Given the description of an element on the screen output the (x, y) to click on. 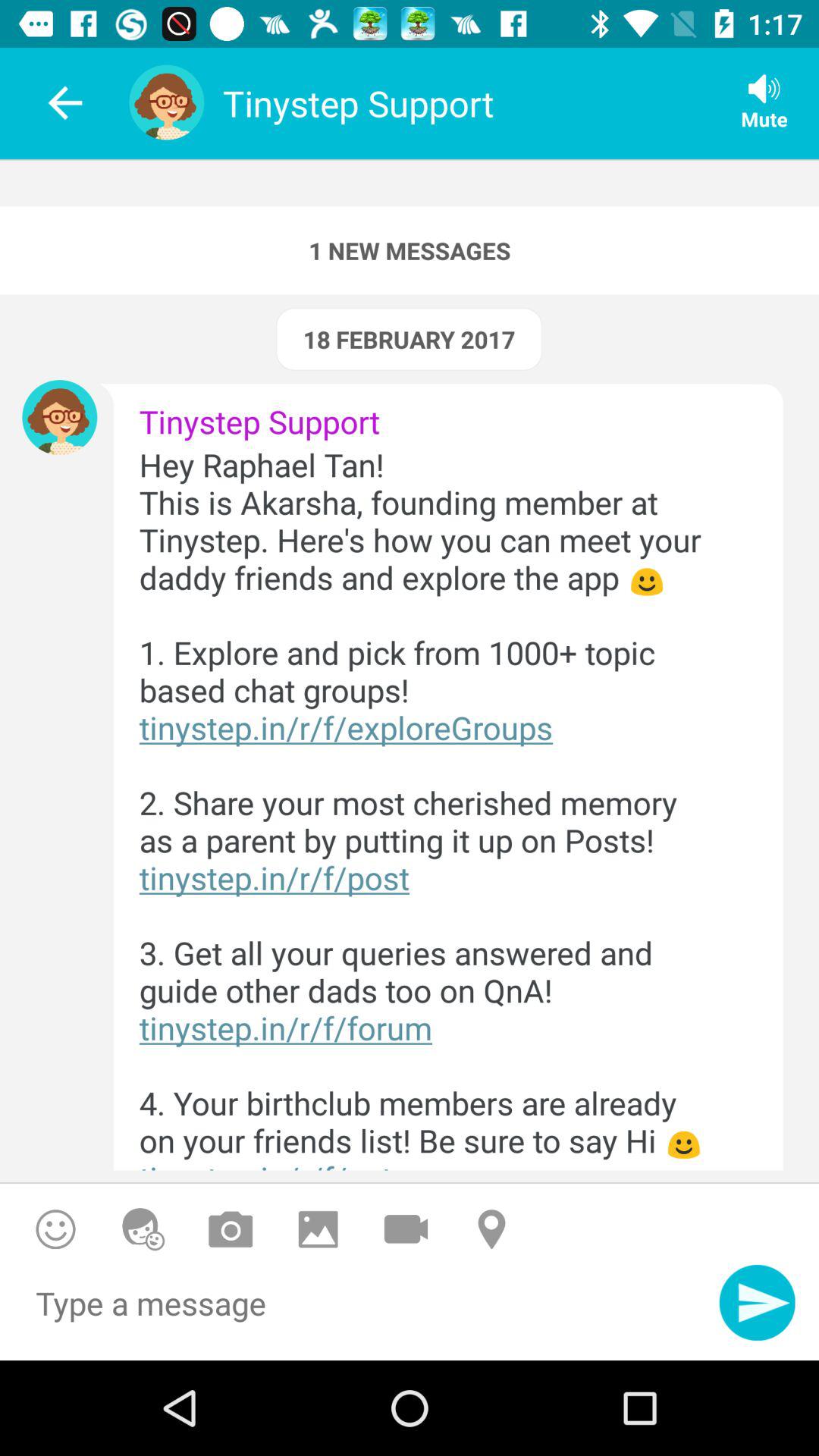
take photo (230, 1229)
